Given the description of an element on the screen output the (x, y) to click on. 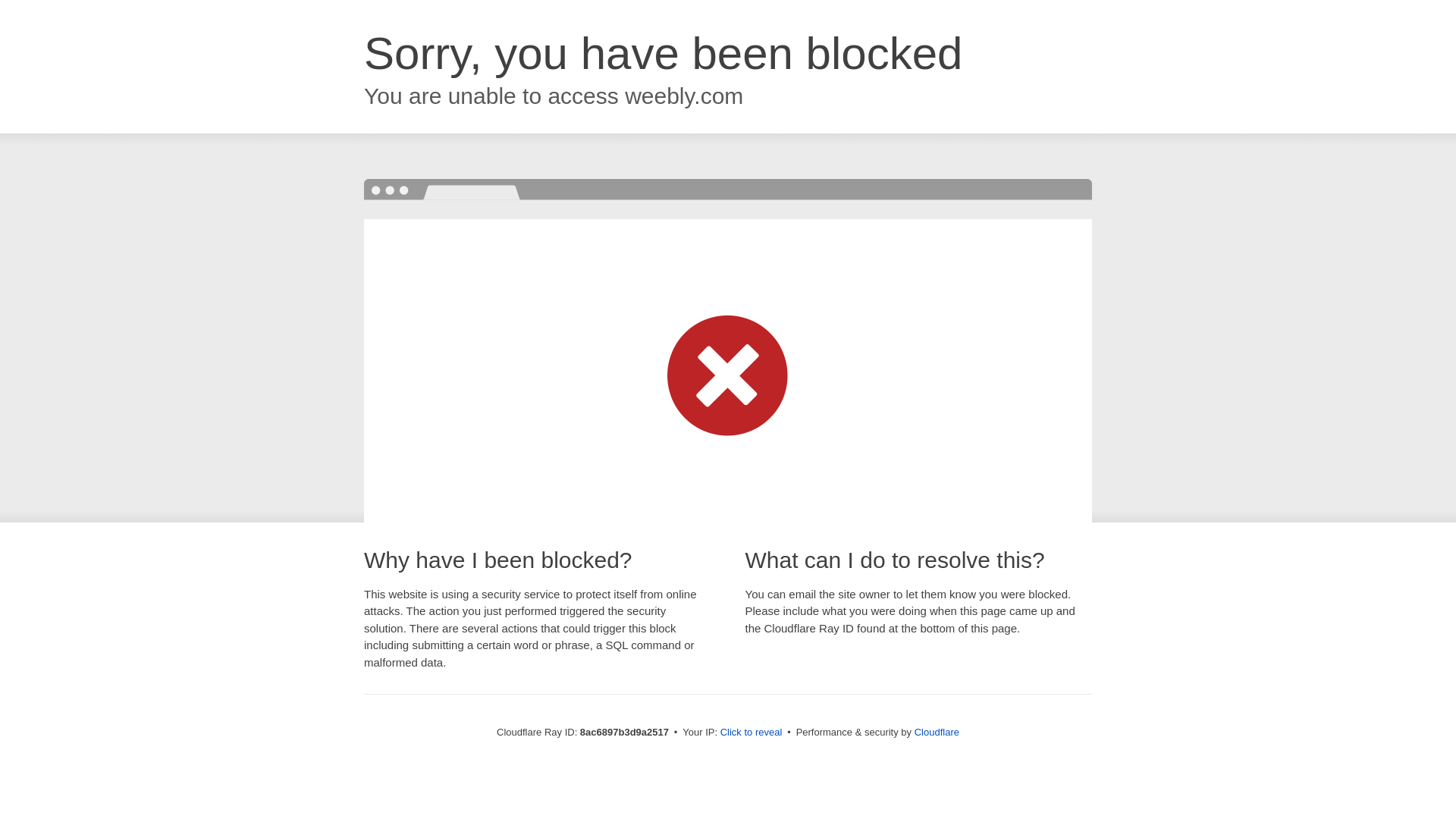
Cloudflare (936, 731)
Click to reveal (751, 732)
